Given the description of an element on the screen output the (x, y) to click on. 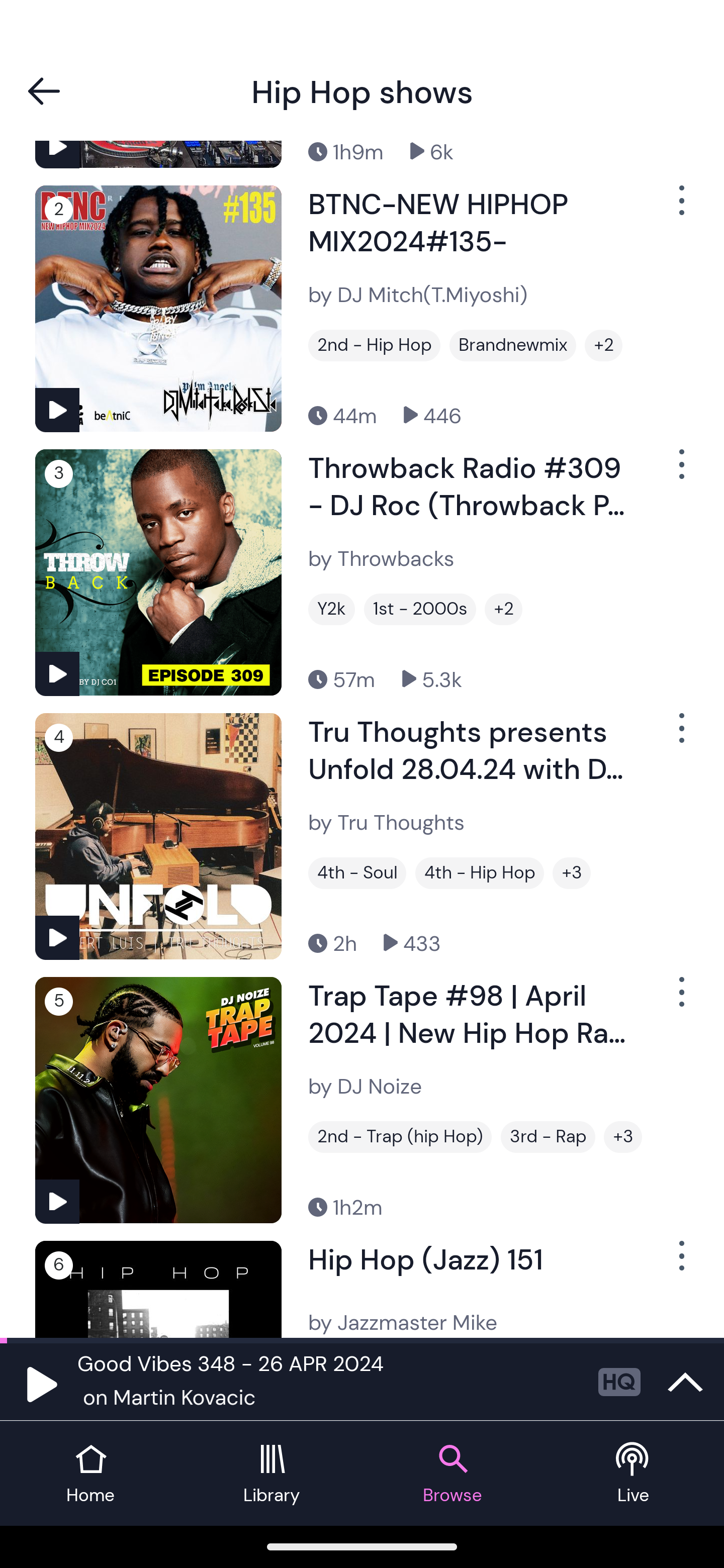
Show Options Menu Button (679, 207)
2nd - Hip Hop (374, 344)
Brandnewmix (512, 344)
Show Options Menu Button (679, 472)
Y2k (331, 609)
1st - 2000s (420, 609)
Show Options Menu Button (679, 735)
4th - Soul (357, 873)
4th - Hip Hop (479, 873)
Show Options Menu Button (679, 999)
2nd - Trap (hip Hop) (399, 1136)
3rd - Rap (548, 1136)
Show Options Menu Button (679, 1263)
Home tab Home (90, 1473)
Library tab Library (271, 1473)
Browse tab Browse (452, 1473)
Live tab Live (633, 1473)
